Given the description of an element on the screen output the (x, y) to click on. 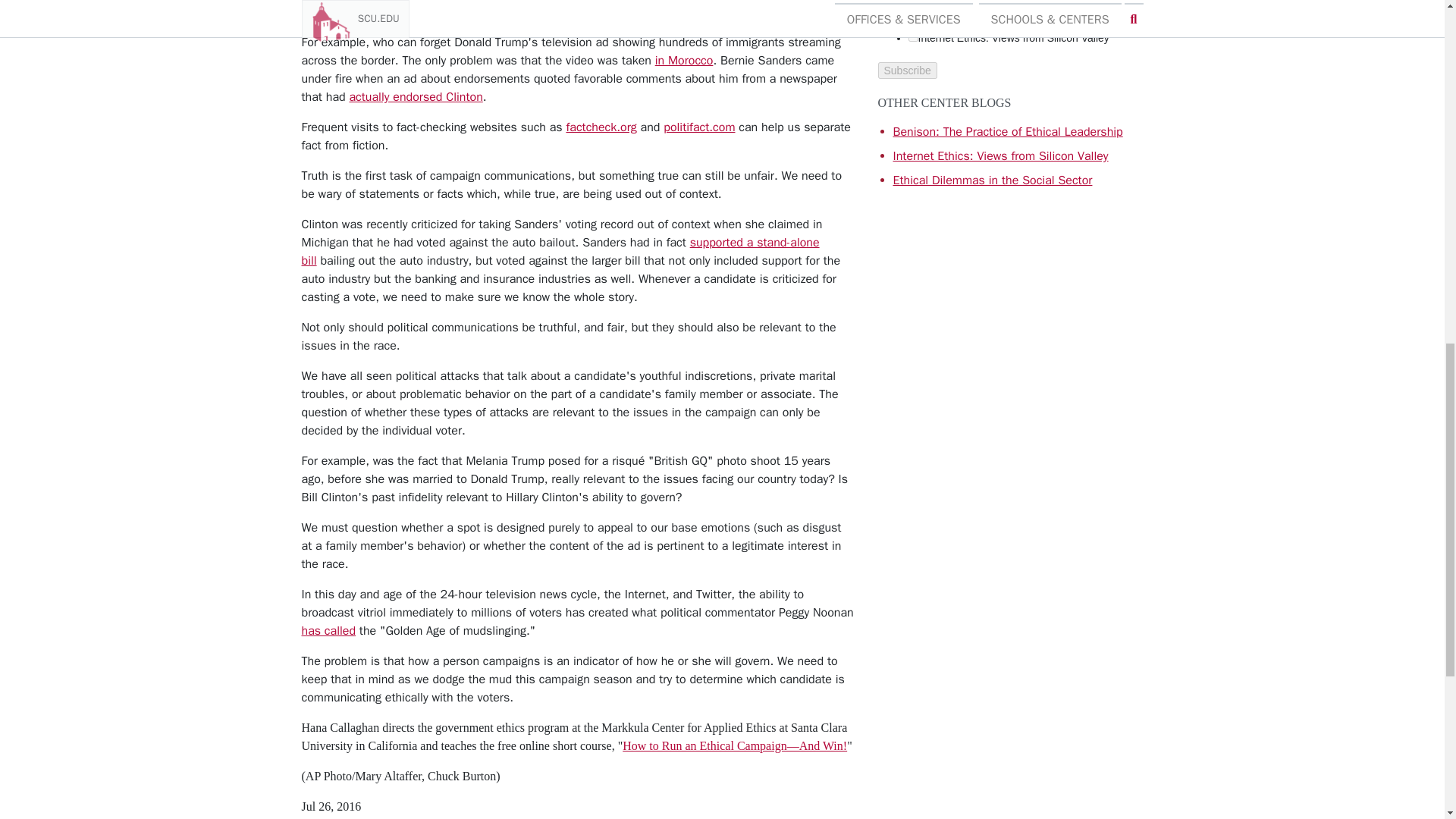
16 (913, 2)
2 (913, 36)
Subscribe (907, 70)
8 (913, 18)
